Given the description of an element on the screen output the (x, y) to click on. 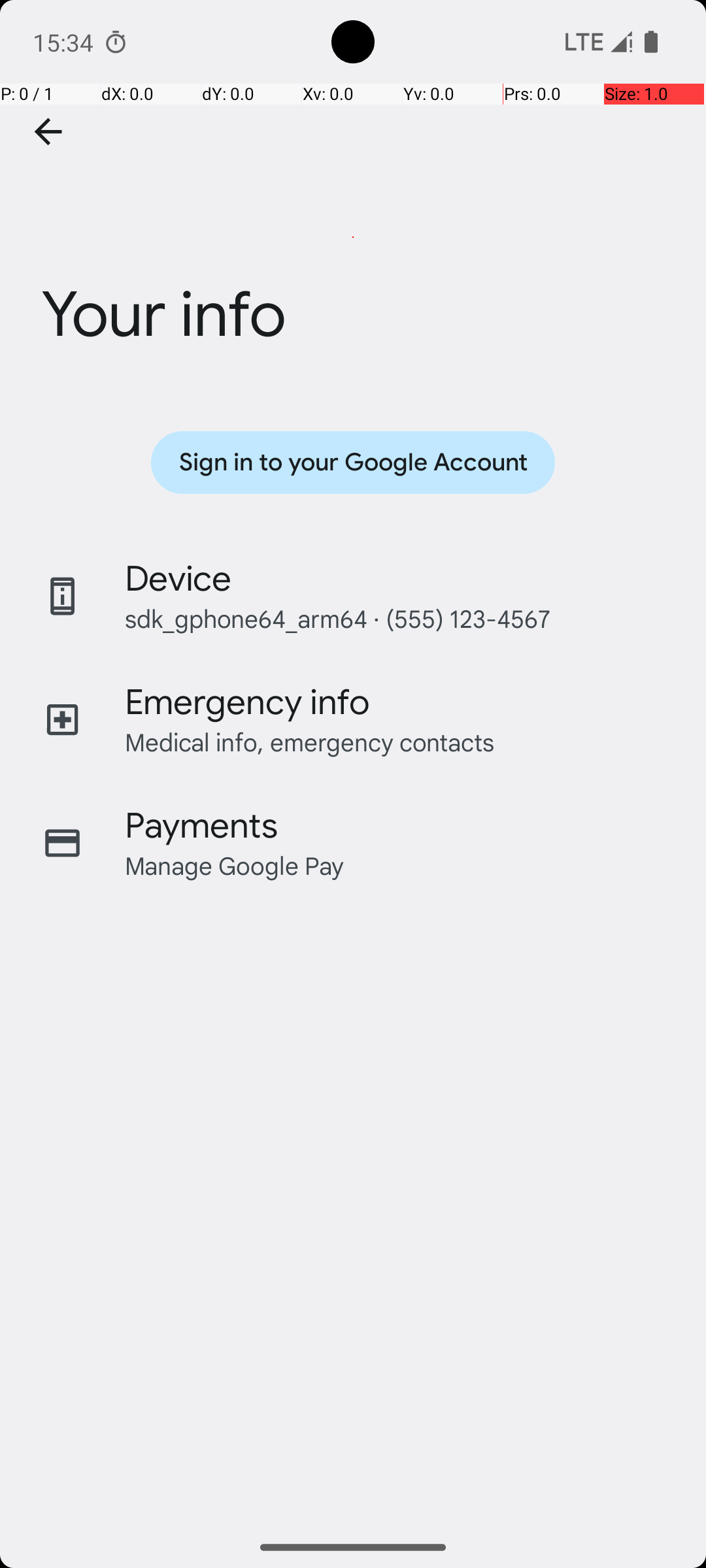
Sign in to your Google Account Element type: android.widget.Button (352, 462)
sdk_gphone64_arm64 · (555) 123-4567 Element type: android.widget.TextView (337, 618)
Emergency info Element type: android.widget.TextView (246, 702)
Medical info, emergency contacts Element type: android.widget.TextView (309, 741)
Payments Element type: android.widget.TextView (200, 825)
Manage Google Pay Element type: android.widget.TextView (234, 865)
